Given the description of an element on the screen output the (x, y) to click on. 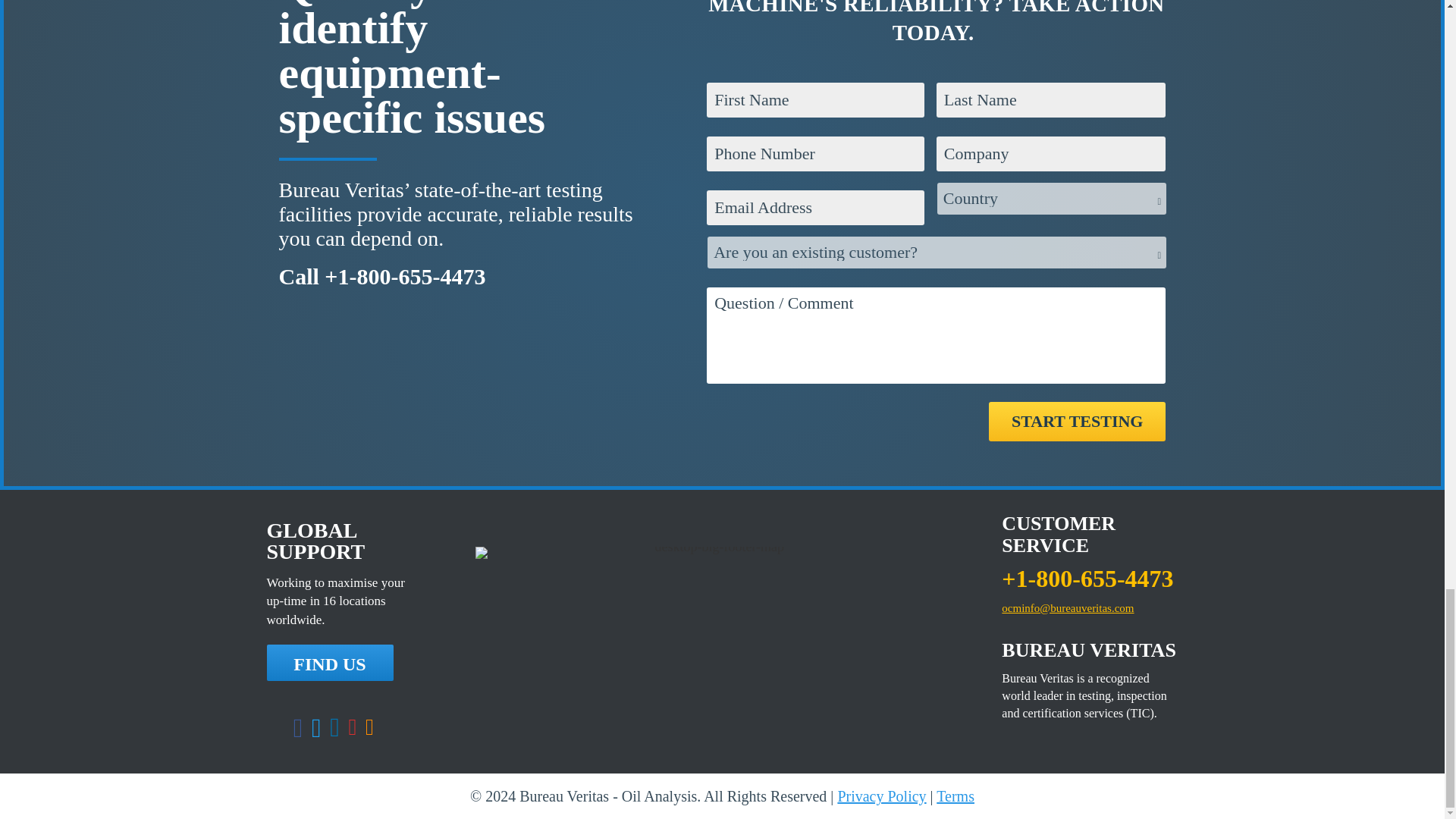
BUREAU VERITAS (1087, 649)
Start Testing (1077, 421)
desktop-big-footer-map (714, 552)
